Given the description of an element on the screen output the (x, y) to click on. 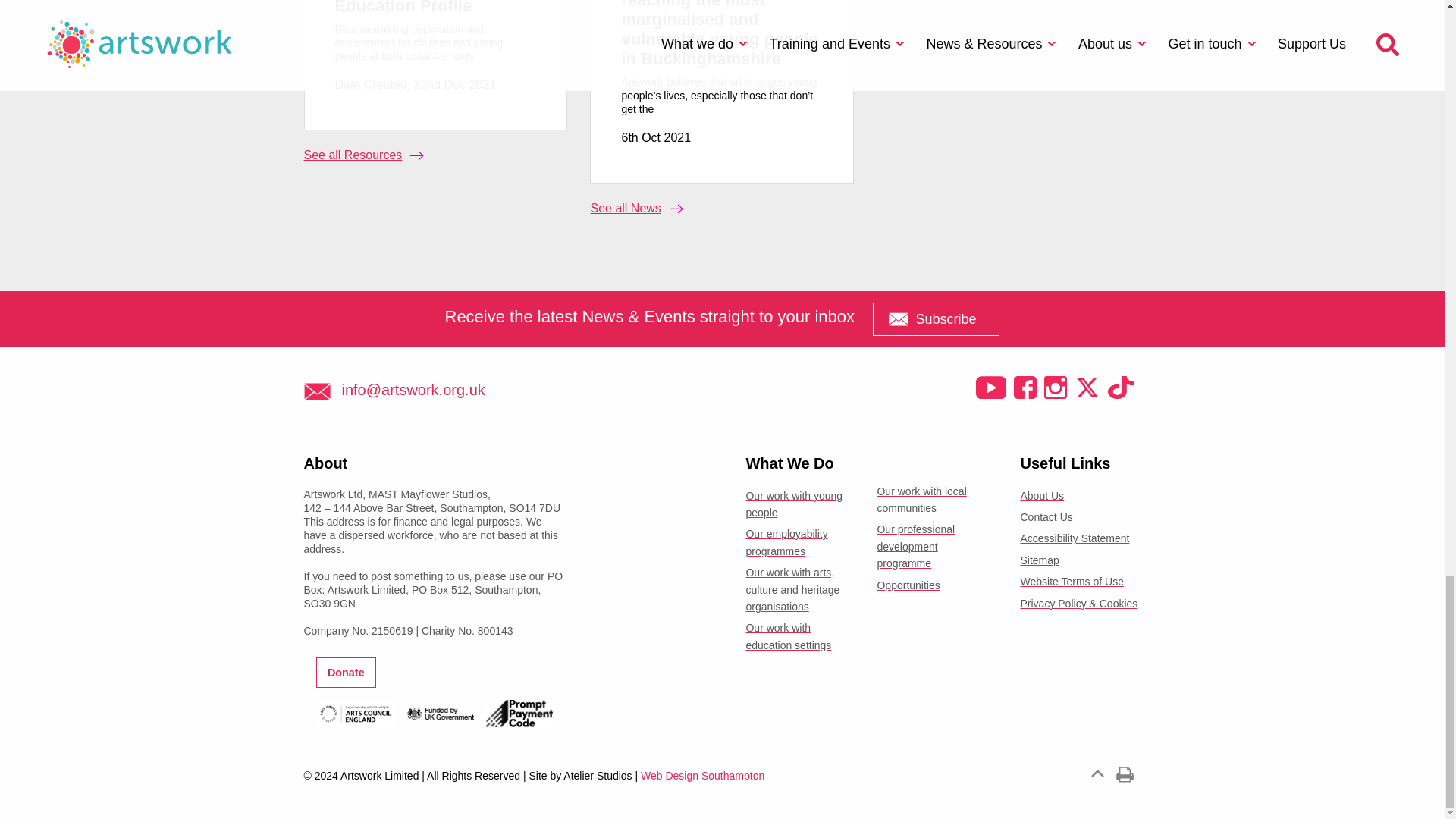
Tiktok (1119, 386)
Youtube (990, 386)
Twitter (1024, 386)
Print This Page (1125, 773)
Twitter (1086, 386)
Instagram (1054, 386)
